Given the description of an element on the screen output the (x, y) to click on. 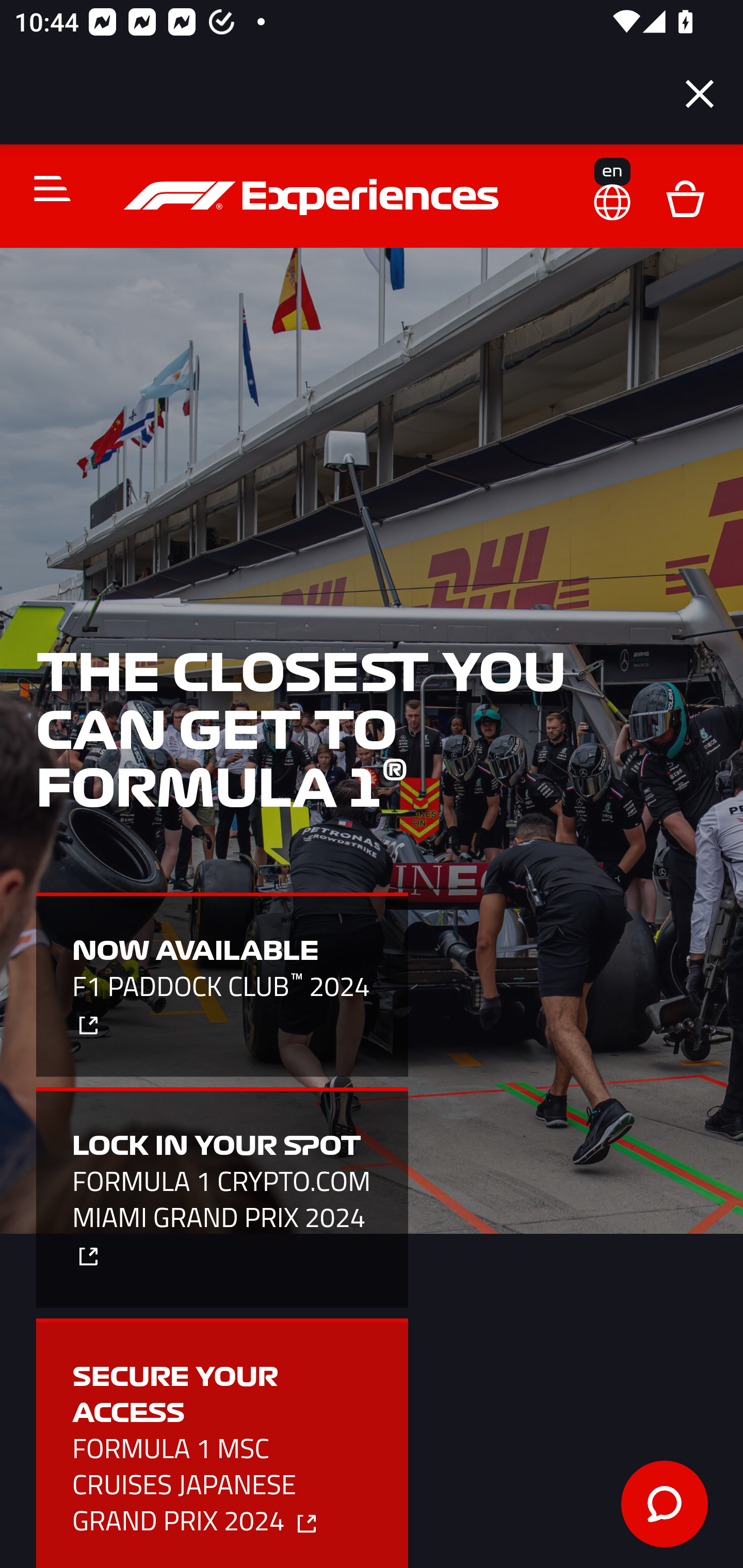
Close (699, 93)
Toggle navigation C (43, 188)
D (684, 197)
f1experiences (313, 197)
